Given the description of an element on the screen output the (x, y) to click on. 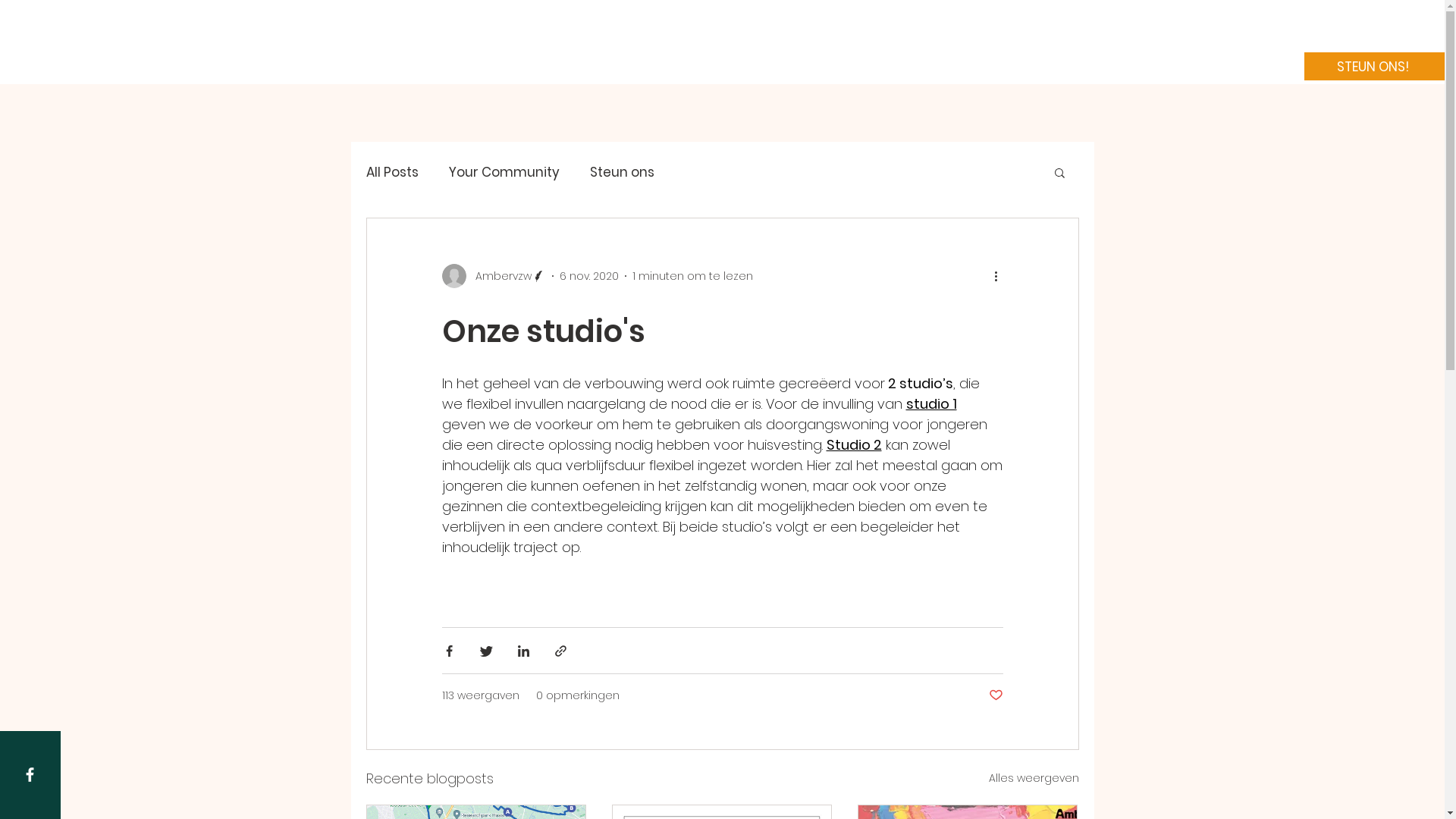
Your Community Element type: text (503, 172)
Alles weergeven Element type: text (1033, 778)
STEUN ONS! Element type: text (1374, 66)
Post is niet als leuk gemarkeerd Element type: text (995, 695)
Steun ons Element type: text (621, 172)
Ambervzw Element type: text (493, 275)
All Posts Element type: text (391, 172)
